Given the description of an element on the screen output the (x, y) to click on. 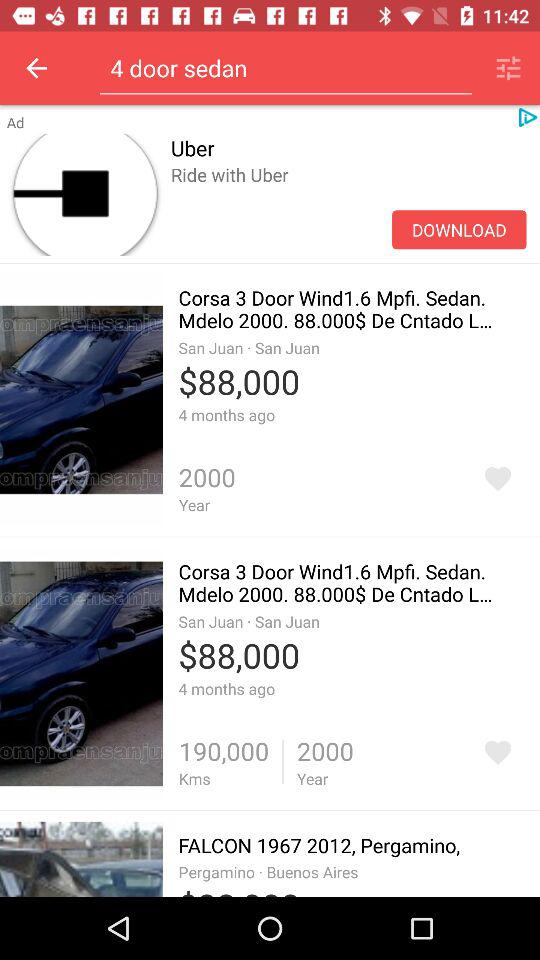
click item to the right of the 4 door sedan icon (508, 67)
